Given the description of an element on the screen output the (x, y) to click on. 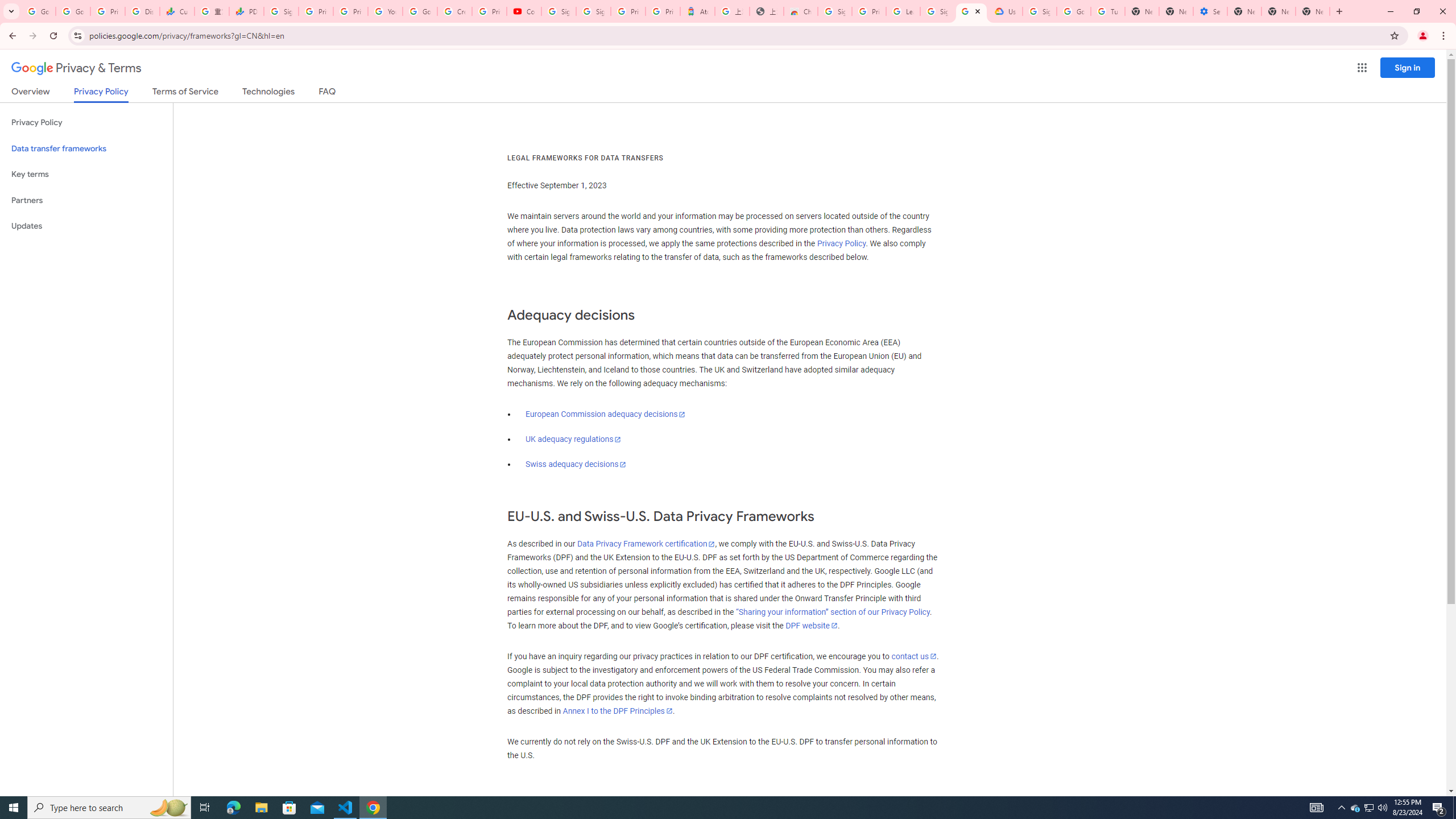
Atour Hotel - Google hotels (697, 11)
Privacy Checkup (349, 11)
DPF website (810, 625)
Content Creator Programs & Opportunities - YouTube Creators (524, 11)
